Given the description of an element on the screen output the (x, y) to click on. 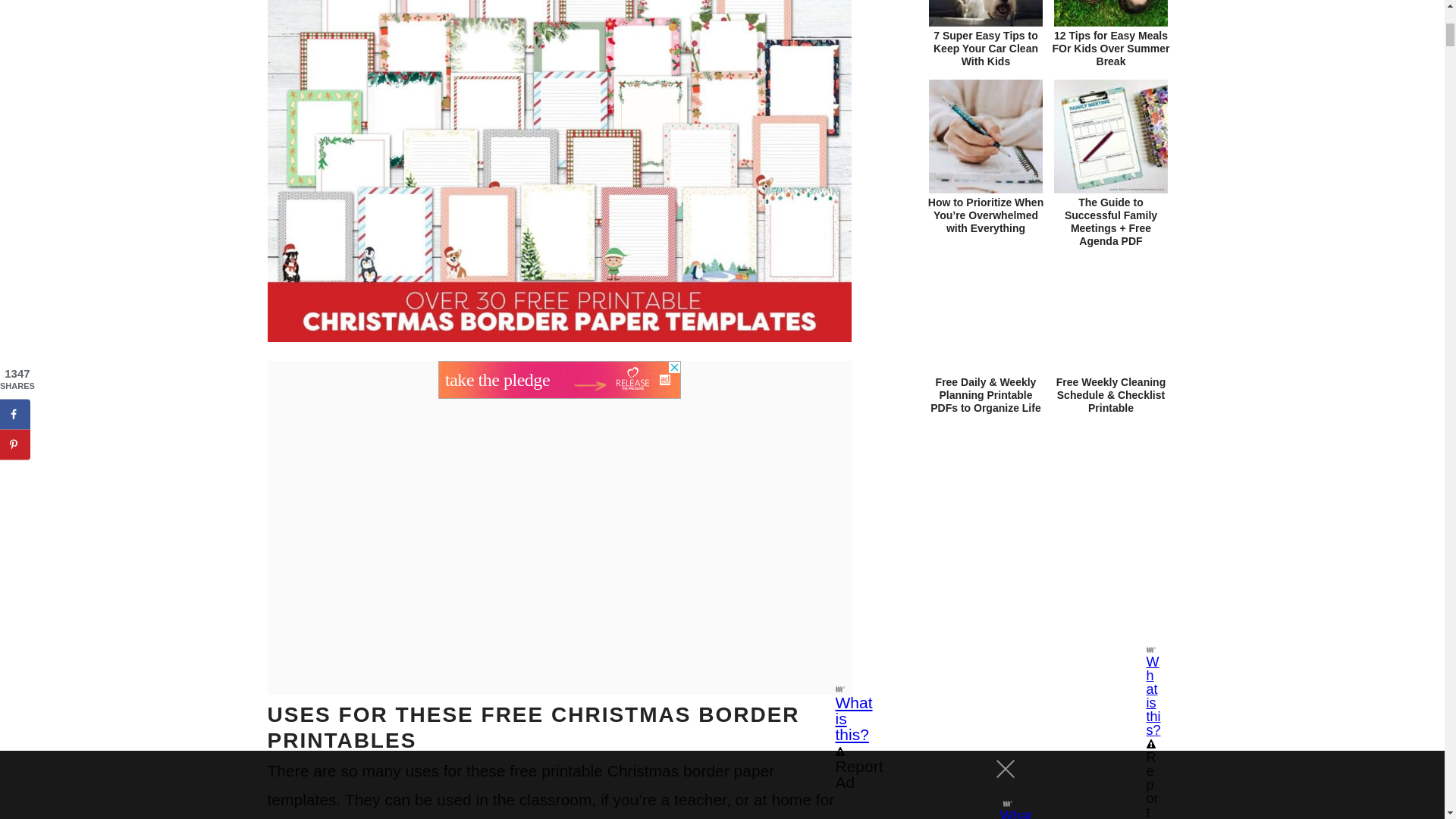
3rd party ad content (559, 379)
3rd party ad content (1047, 546)
